Given the description of an element on the screen output the (x, y) to click on. 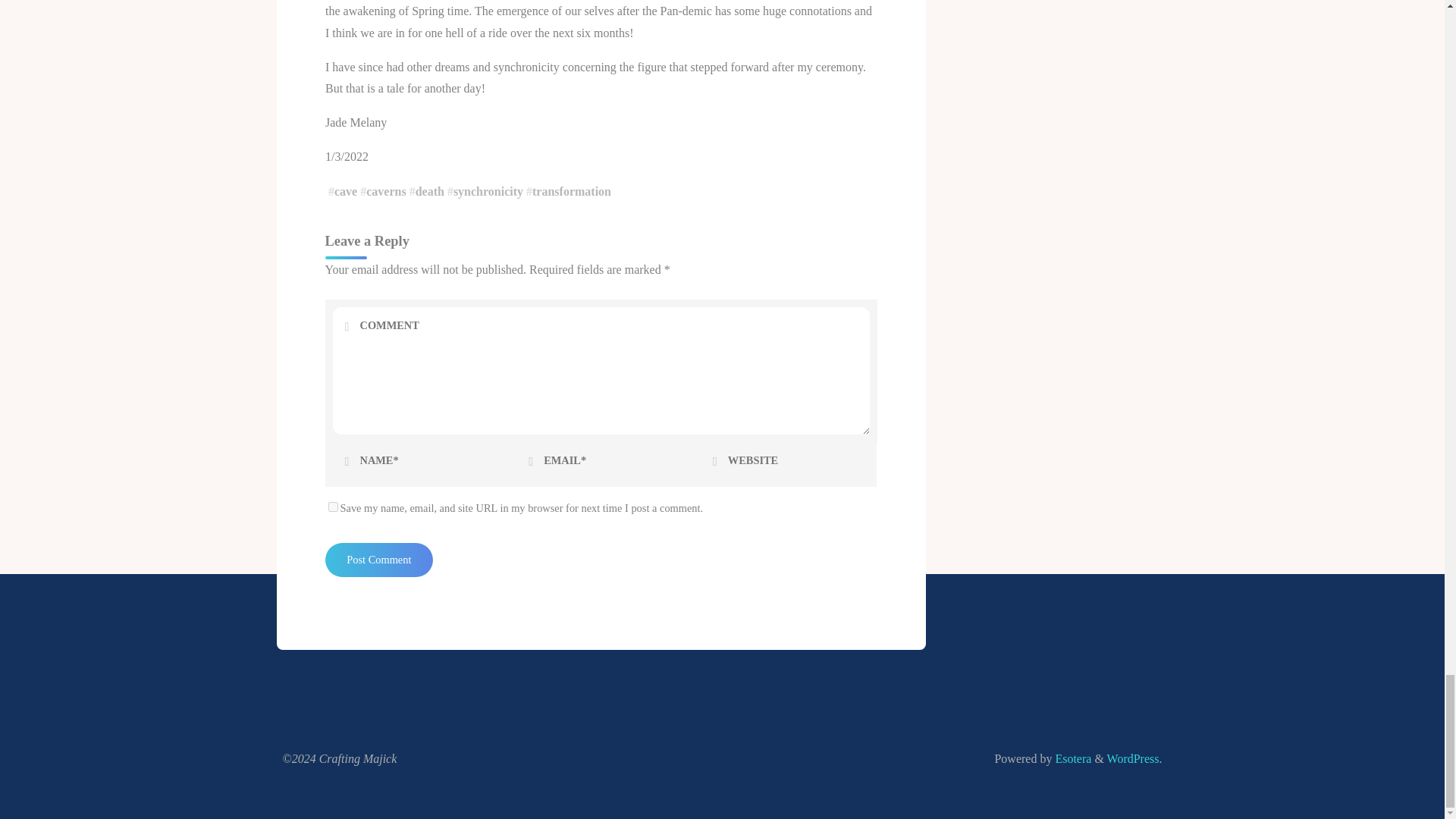
Semantic Personal Publishing Platform (1132, 758)
yes (332, 506)
Post Comment (378, 560)
Esotera WordPress Theme by Cryout Creations (1070, 758)
